Given the description of an element on the screen output the (x, y) to click on. 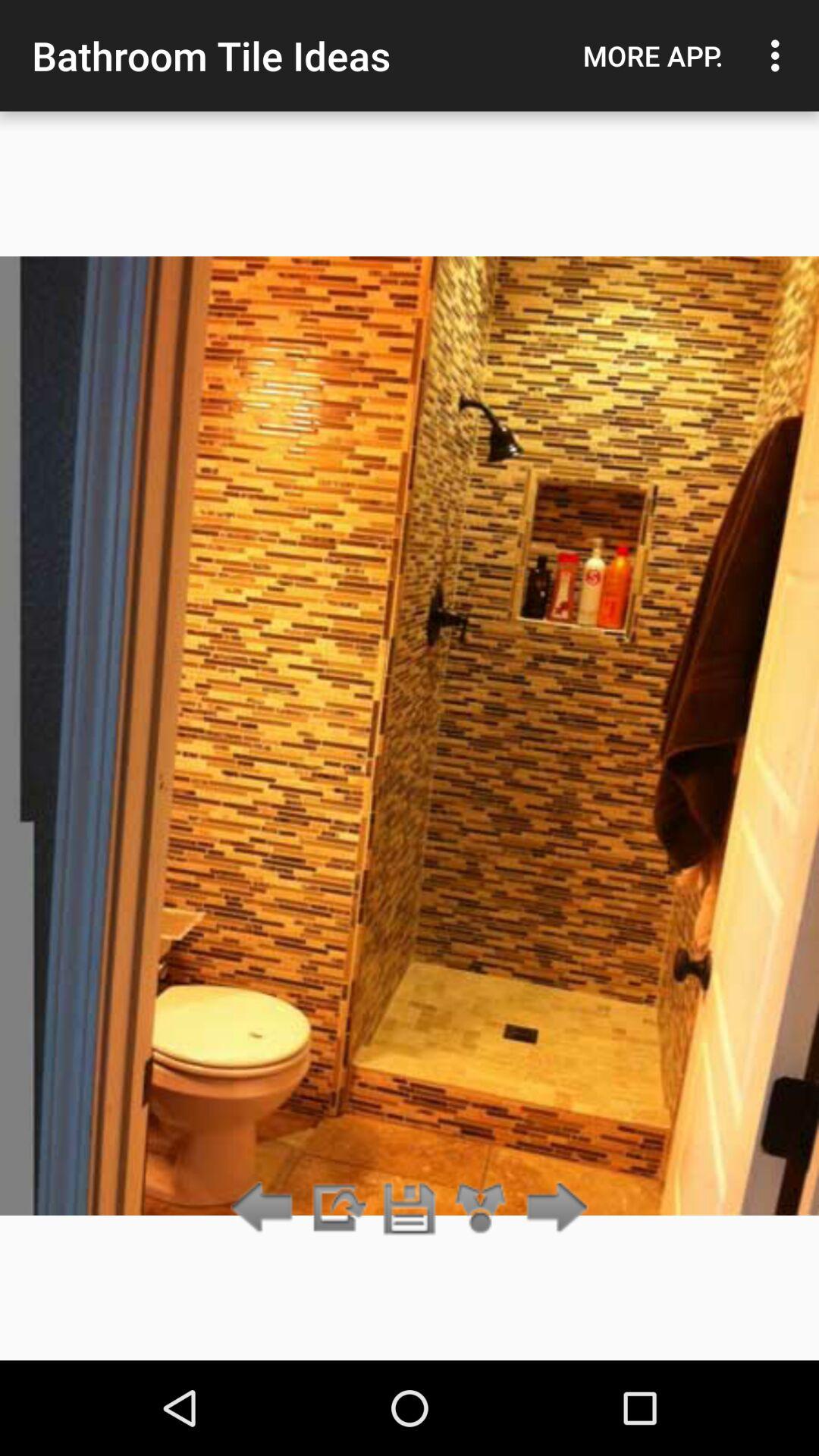
send message (337, 1208)
